Given the description of an element on the screen output the (x, y) to click on. 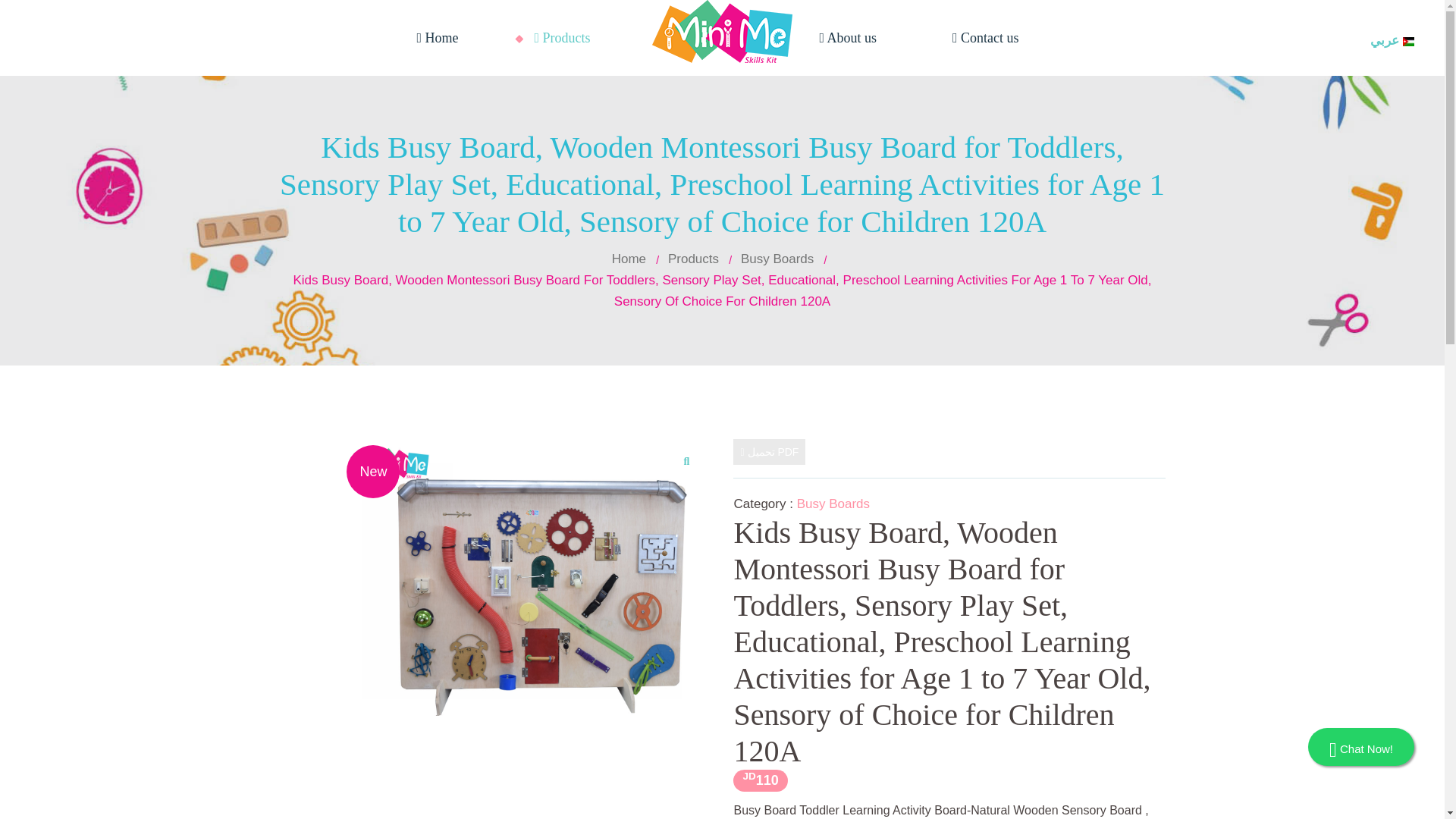
Home (437, 37)
Home (628, 258)
About us (848, 37)
Products (561, 37)
Busy Boards (777, 258)
Busy Boards (531, 578)
Products (693, 258)
Contact us (985, 37)
Busy Boards (832, 504)
JD110 (760, 780)
